Given the description of an element on the screen output the (x, y) to click on. 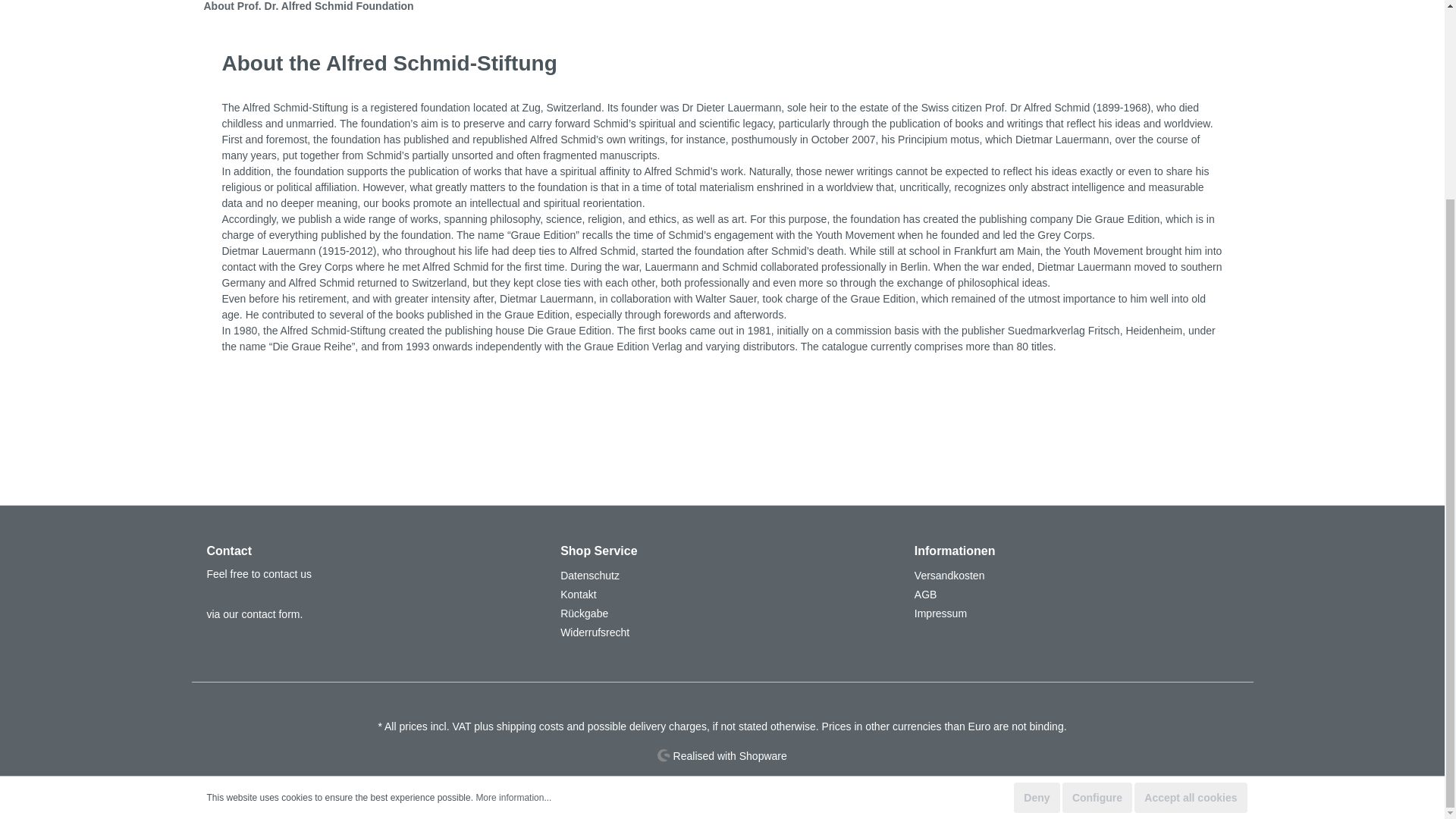
AGB (925, 594)
More information... (513, 544)
About Prof. Dr. Alfred Schmid Foundation (308, 7)
Kontakt (577, 594)
Widerrufsrecht (594, 632)
Impressum (940, 613)
contact form (270, 613)
shipping costs (530, 726)
Versandkosten (949, 575)
Datenschutz (590, 575)
